Given the description of an element on the screen output the (x, y) to click on. 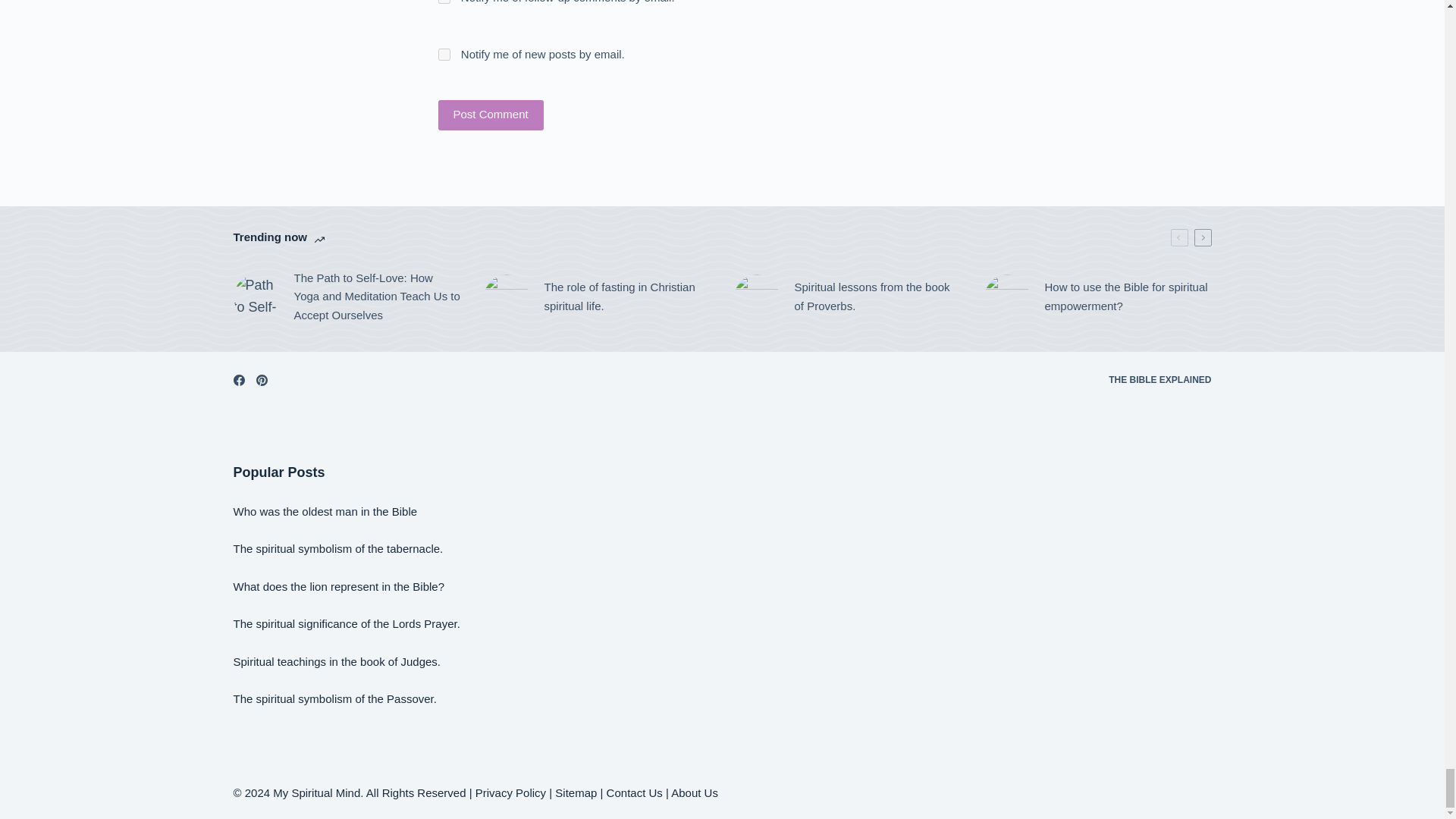
subscribe (443, 2)
subscribe (443, 54)
